Given the description of an element on the screen output the (x, y) to click on. 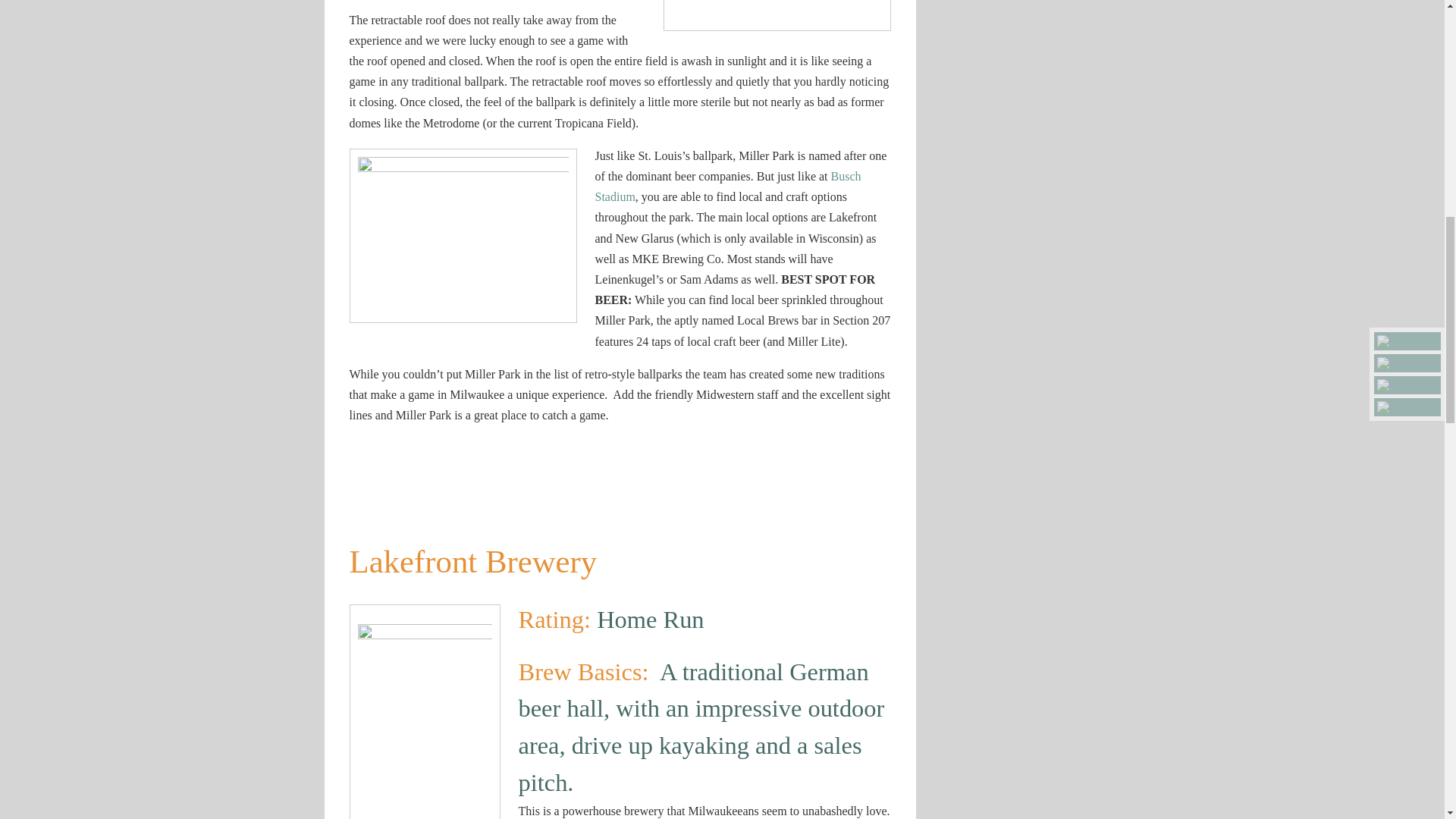
Busch Stadium (727, 186)
